Given the description of an element on the screen output the (x, y) to click on. 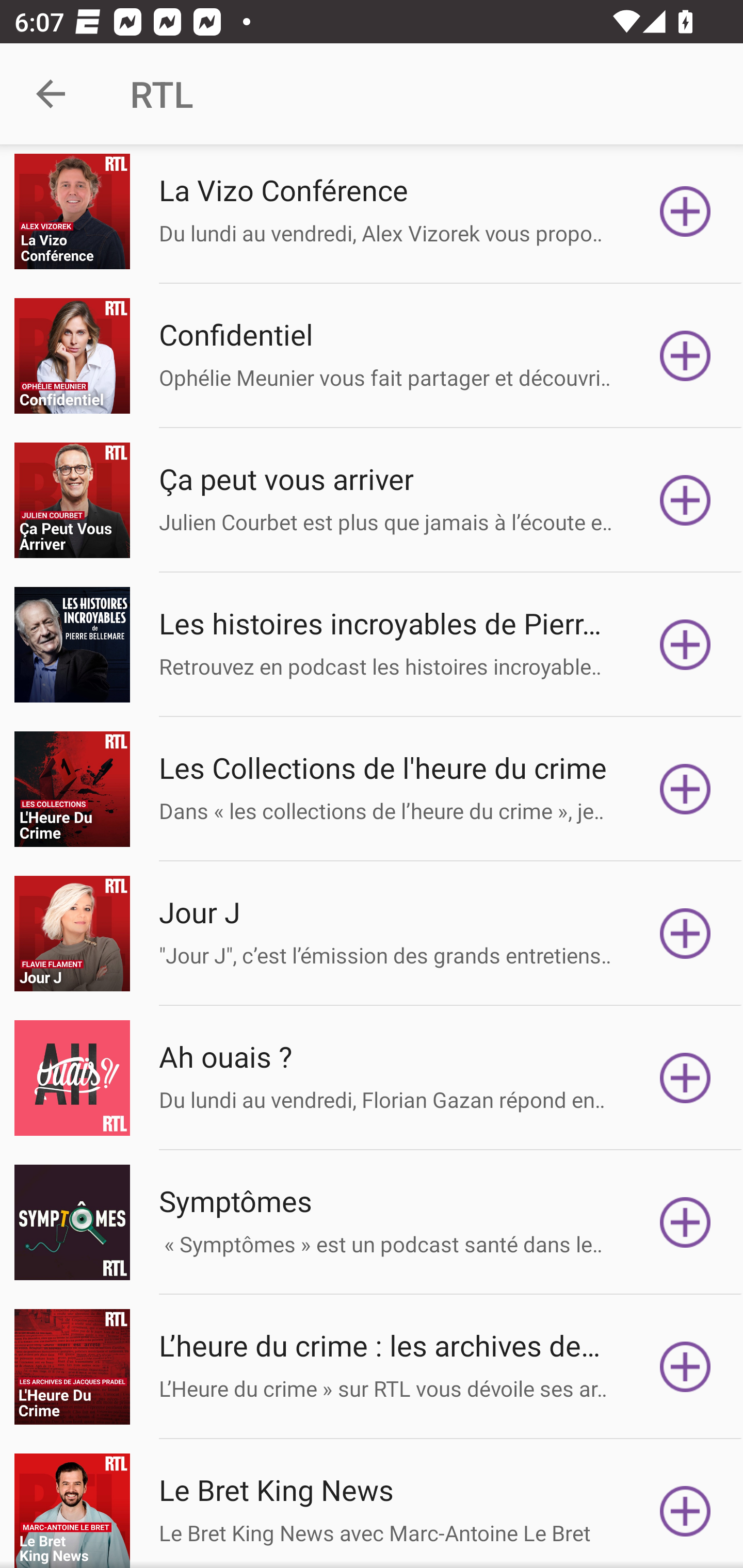
Navigate up (50, 93)
Subscribe (685, 211)
Subscribe (685, 355)
Subscribe (685, 500)
Subscribe (685, 644)
Subscribe (685, 788)
Subscribe (685, 933)
Subscribe (685, 1077)
Subscribe (685, 1222)
Subscribe (685, 1367)
Subscribe (685, 1510)
